Given the description of an element on the screen output the (x, y) to click on. 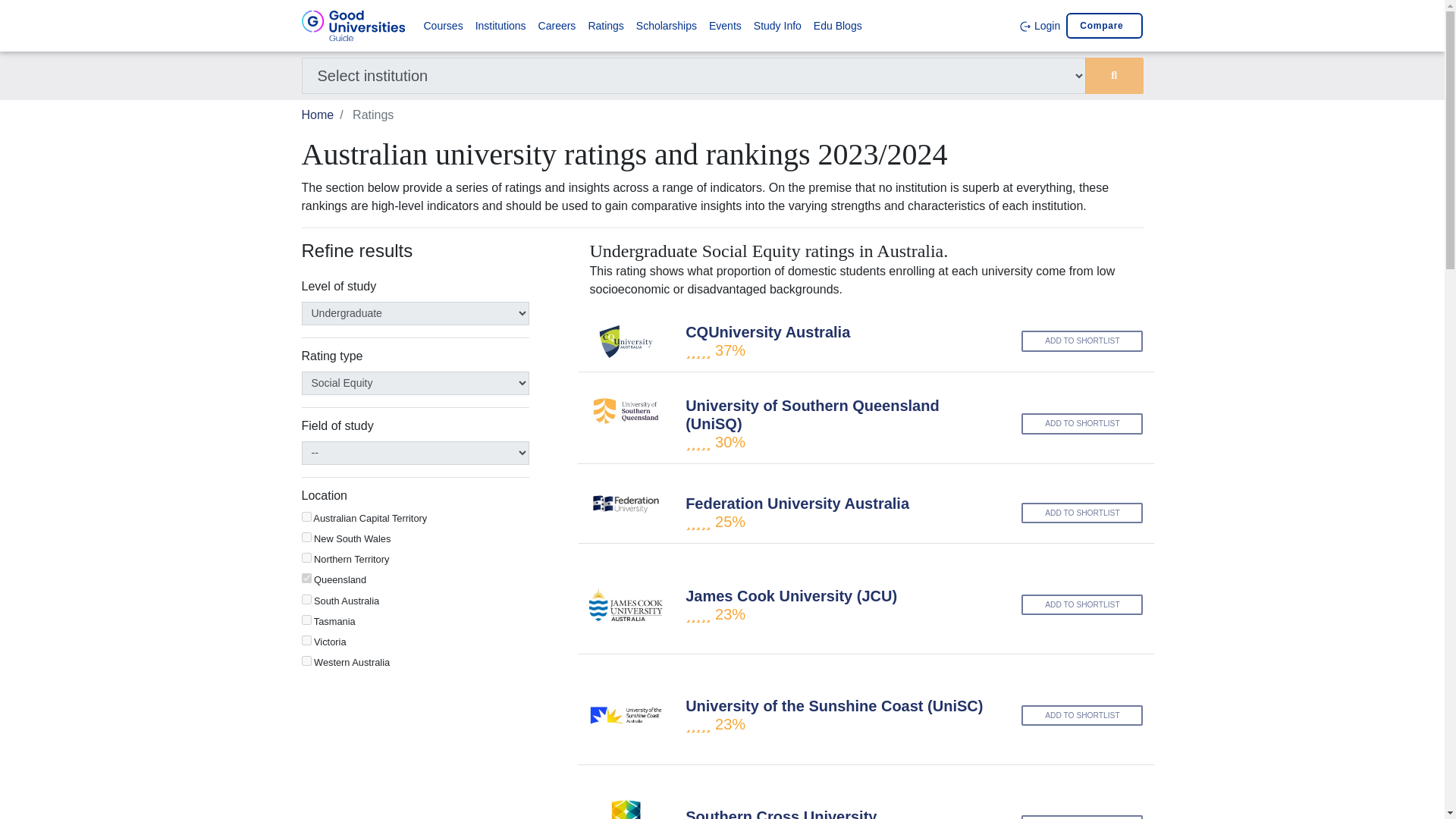
Edu Blogs (837, 25)
5 (306, 599)
1 (306, 516)
ADD TO SHORTLIST (1082, 423)
2 (306, 537)
3 (306, 557)
4 (306, 578)
ADD TO SHORTLIST (1082, 715)
Courses (442, 25)
3rd party ad content (415, 751)
Home (317, 114)
ADD TO SHORTLIST (1082, 340)
ADD TO SHORTLIST (1082, 604)
Compare (1103, 25)
Study Info (778, 25)
